Given the description of an element on the screen output the (x, y) to click on. 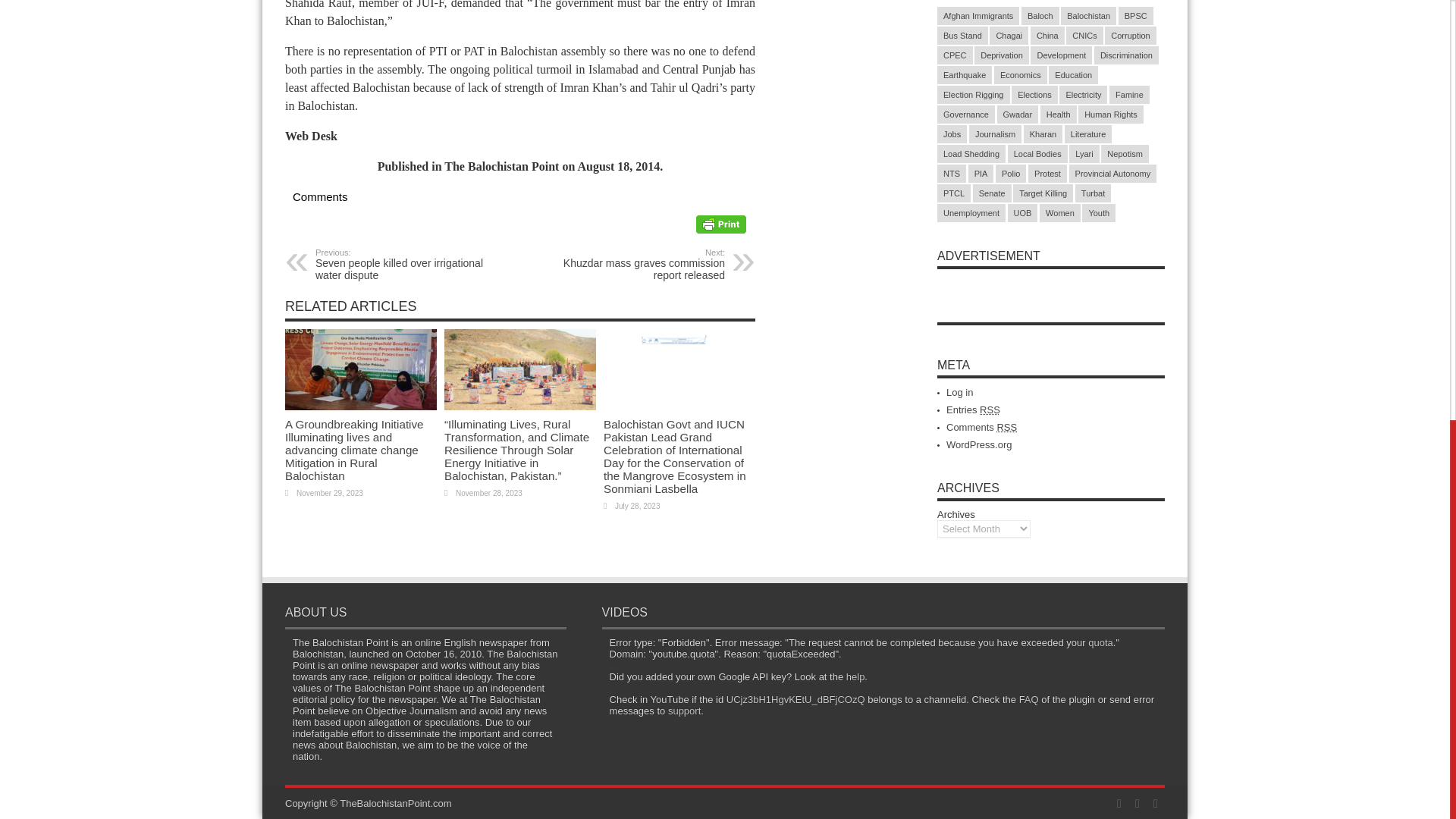
Really Simple Syndication (989, 409)
Really Simple Syndication (631, 264)
